Given the description of an element on the screen output the (x, y) to click on. 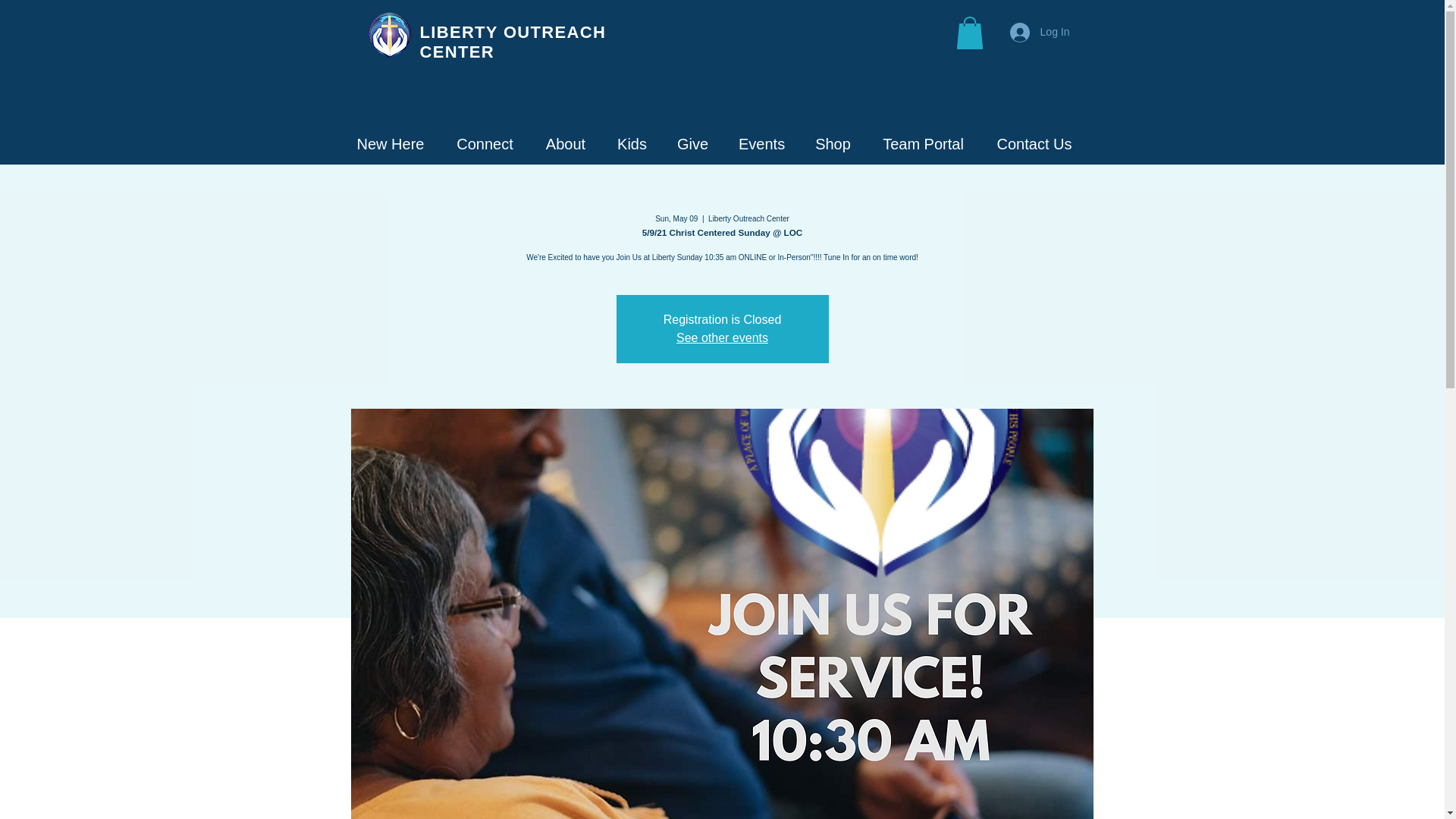
See other events (722, 337)
Log In (1039, 32)
Events (761, 141)
Kids (632, 141)
About (565, 141)
Team Portal (922, 141)
New Here (390, 141)
LIBERTY OUTREACH CENTER (513, 41)
Give (692, 141)
Contact Us (1033, 141)
